Given the description of an element on the screen output the (x, y) to click on. 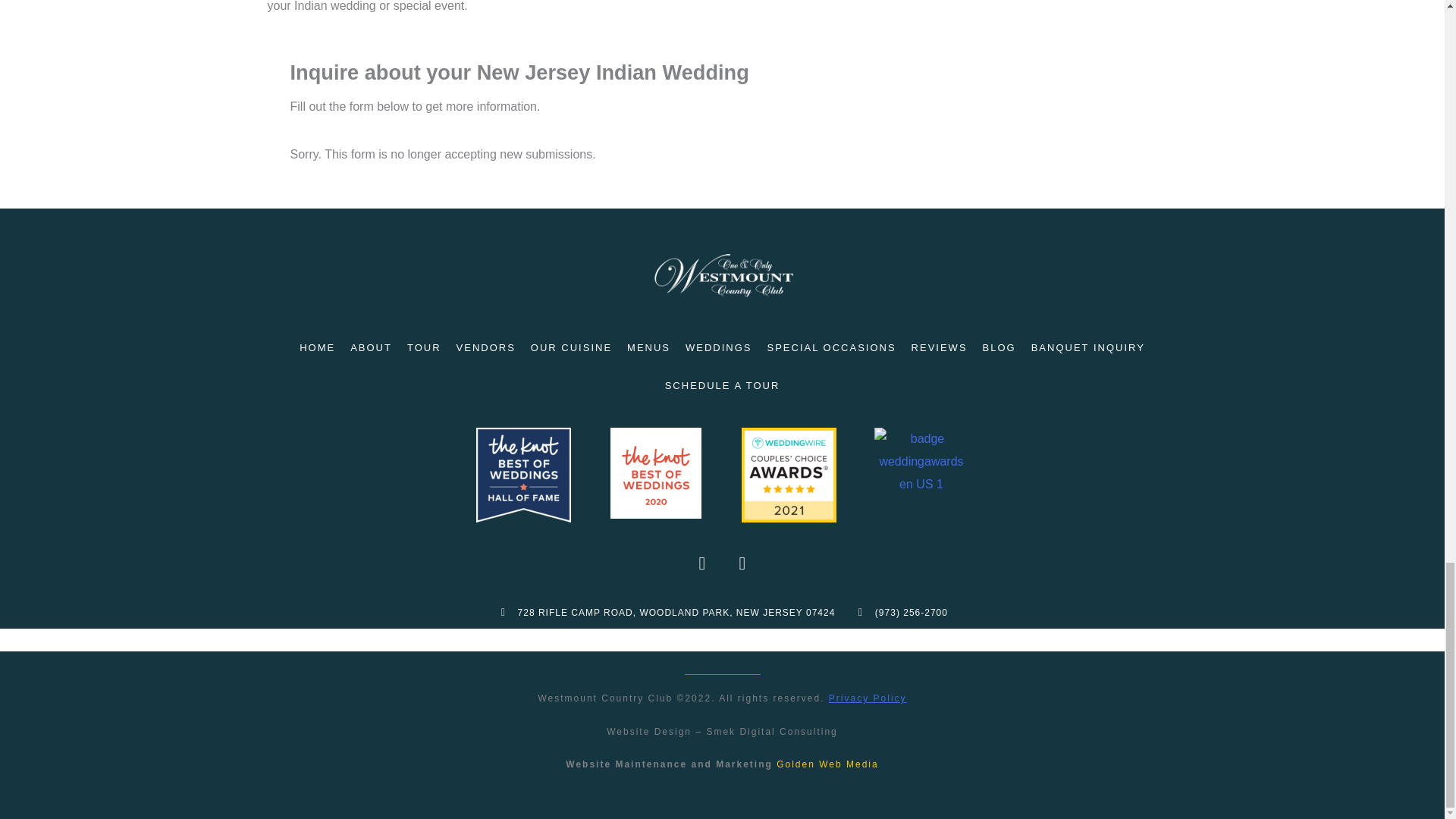
HOME (317, 347)
ABOUT (370, 347)
TOUR (423, 347)
